Given the description of an element on the screen output the (x, y) to click on. 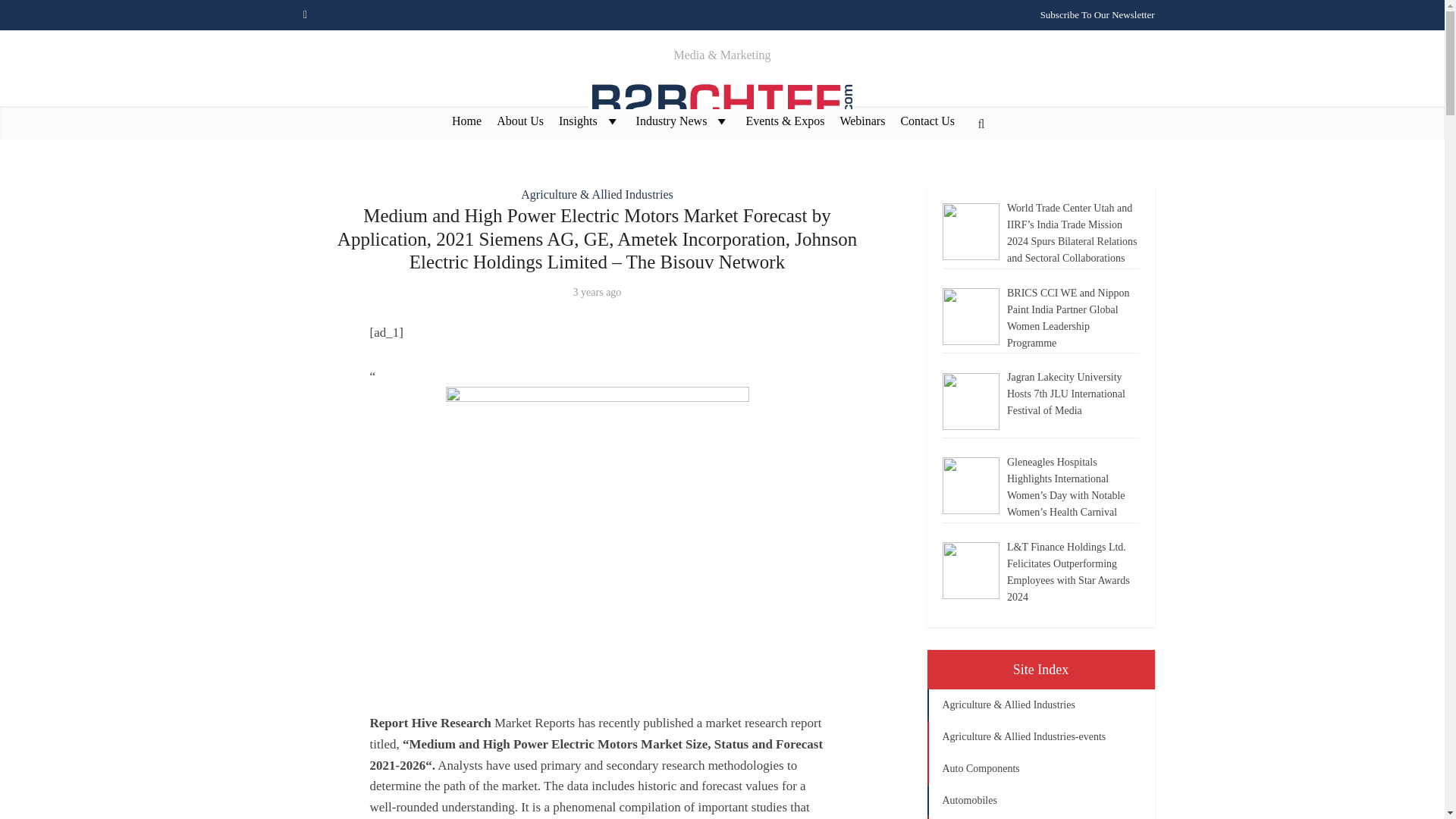
Industry News (683, 119)
Home (466, 119)
Subscribe To Our Newsletter (1097, 14)
Insights (589, 119)
About Us (520, 119)
